Given the description of an element on the screen output the (x, y) to click on. 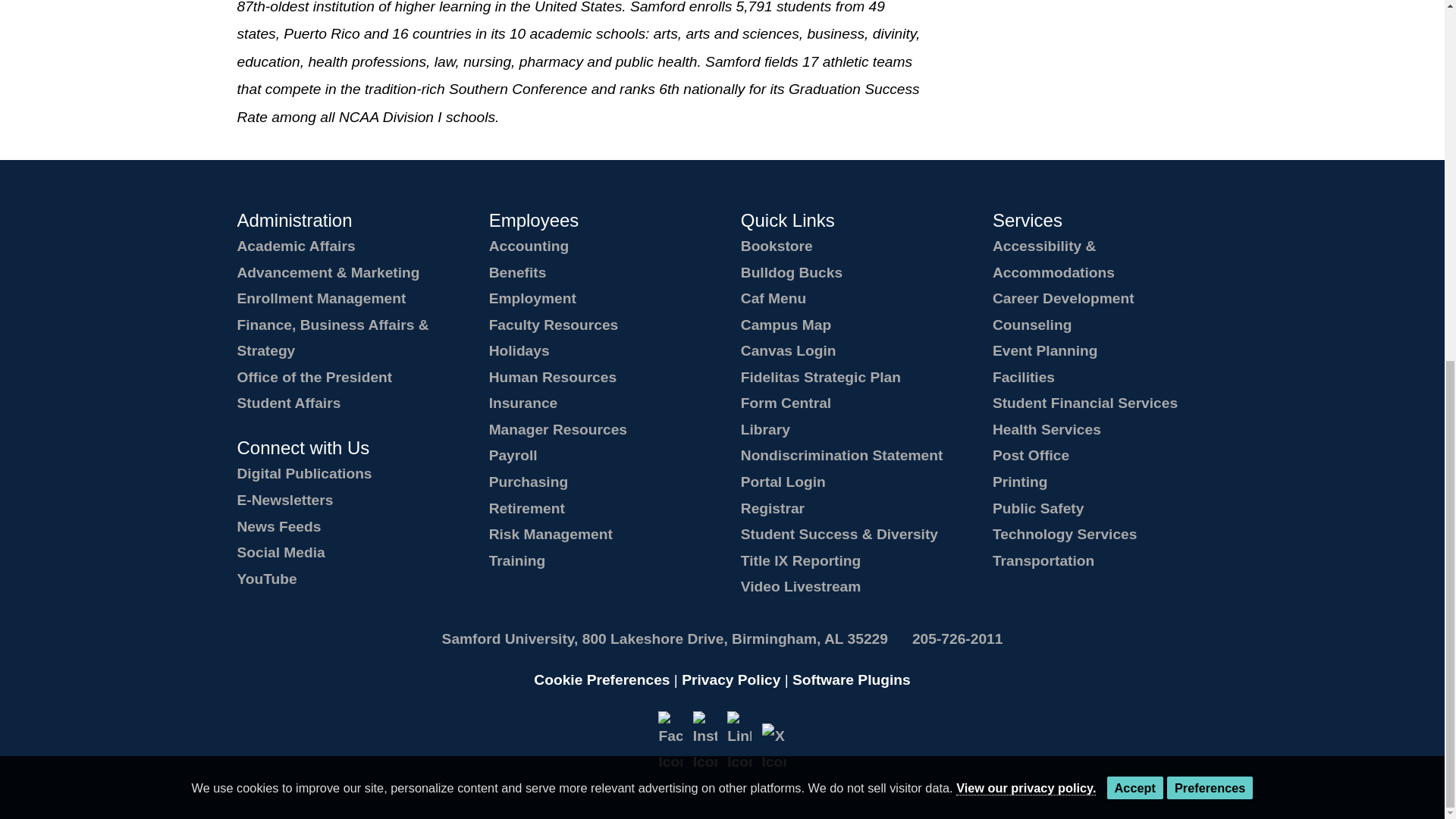
Connect with us on social media. (279, 552)
One Stop Student Financial Services (1084, 402)
Subscribe to Samford print publications. (303, 473)
Subscribe to Samford's YouTube channel. (266, 578)
Subscribe to receive Samford e-Newsletters (284, 499)
Subscribe to Samford news feeds. (277, 526)
